Given the description of an element on the screen output the (x, y) to click on. 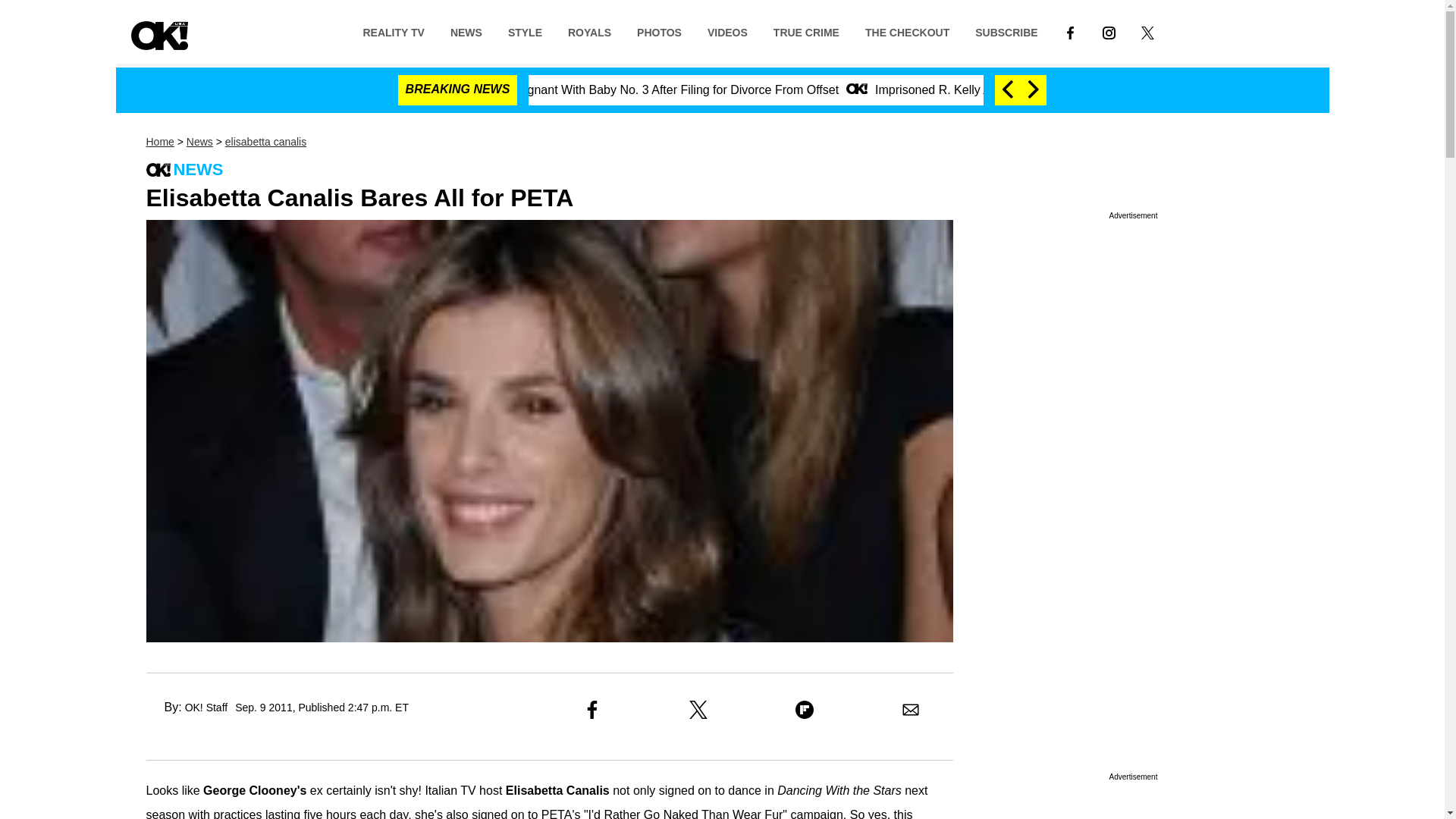
LINK TO FACEBOOK (1070, 32)
TRUE CRIME (805, 31)
OK! Staff (206, 707)
Link to Facebook (1070, 31)
Share to Email (909, 710)
Link to X (1147, 31)
ROYALS (589, 31)
News (199, 141)
REALITY TV (392, 31)
LINK TO X (1147, 31)
PHOTOS (659, 31)
Share to X (697, 710)
LINK TO INSTAGRAM (1108, 32)
SUBSCRIBE (1005, 31)
